Given the description of an element on the screen output the (x, y) to click on. 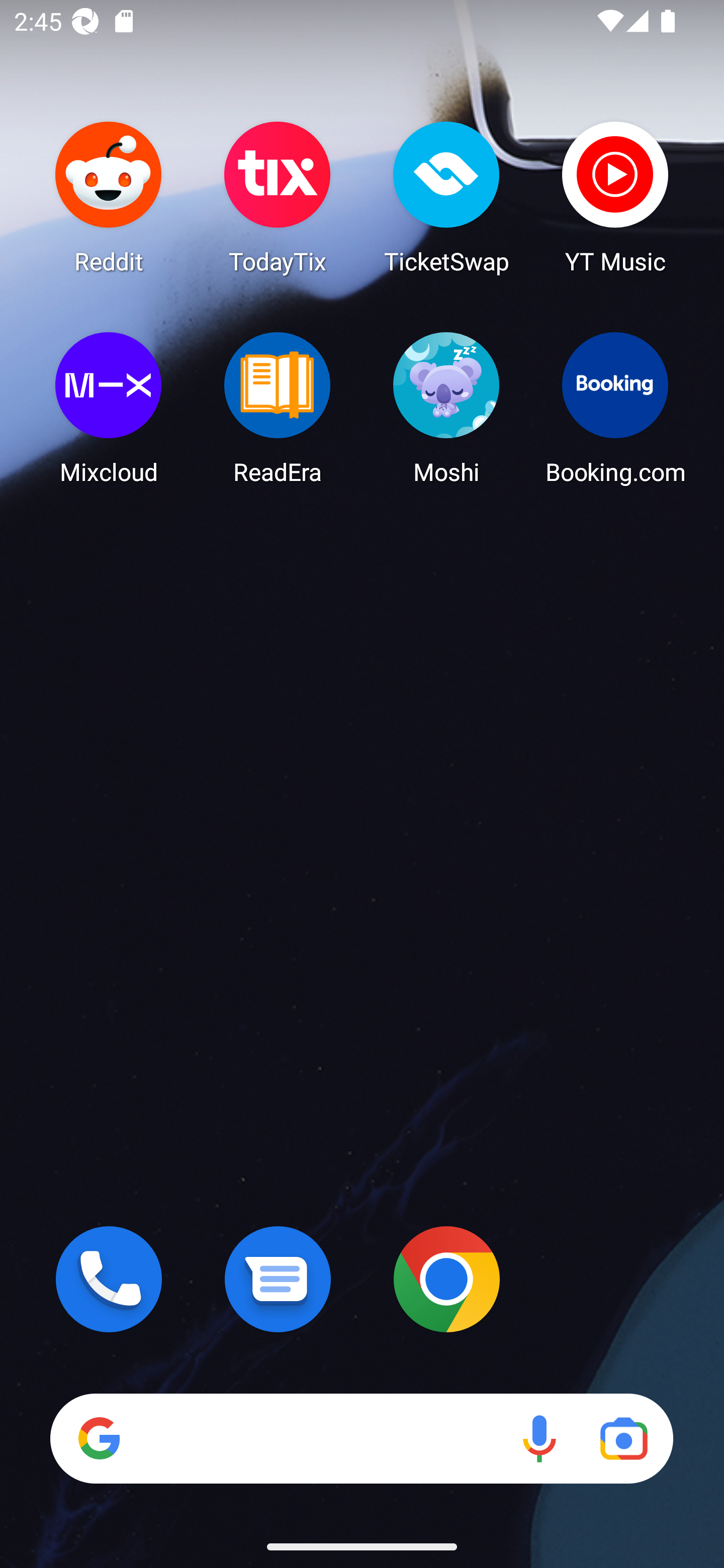
Reddit (108, 196)
TodayTix (277, 196)
TicketSwap (445, 196)
YT Music (615, 196)
Mixcloud (108, 407)
ReadEra (277, 407)
Moshi (445, 407)
Booking.com (615, 407)
Phone (108, 1279)
Messages (277, 1279)
Chrome (446, 1279)
Search Voice search Google Lens (361, 1438)
Voice search (539, 1438)
Google Lens (623, 1438)
